Given the description of an element on the screen output the (x, y) to click on. 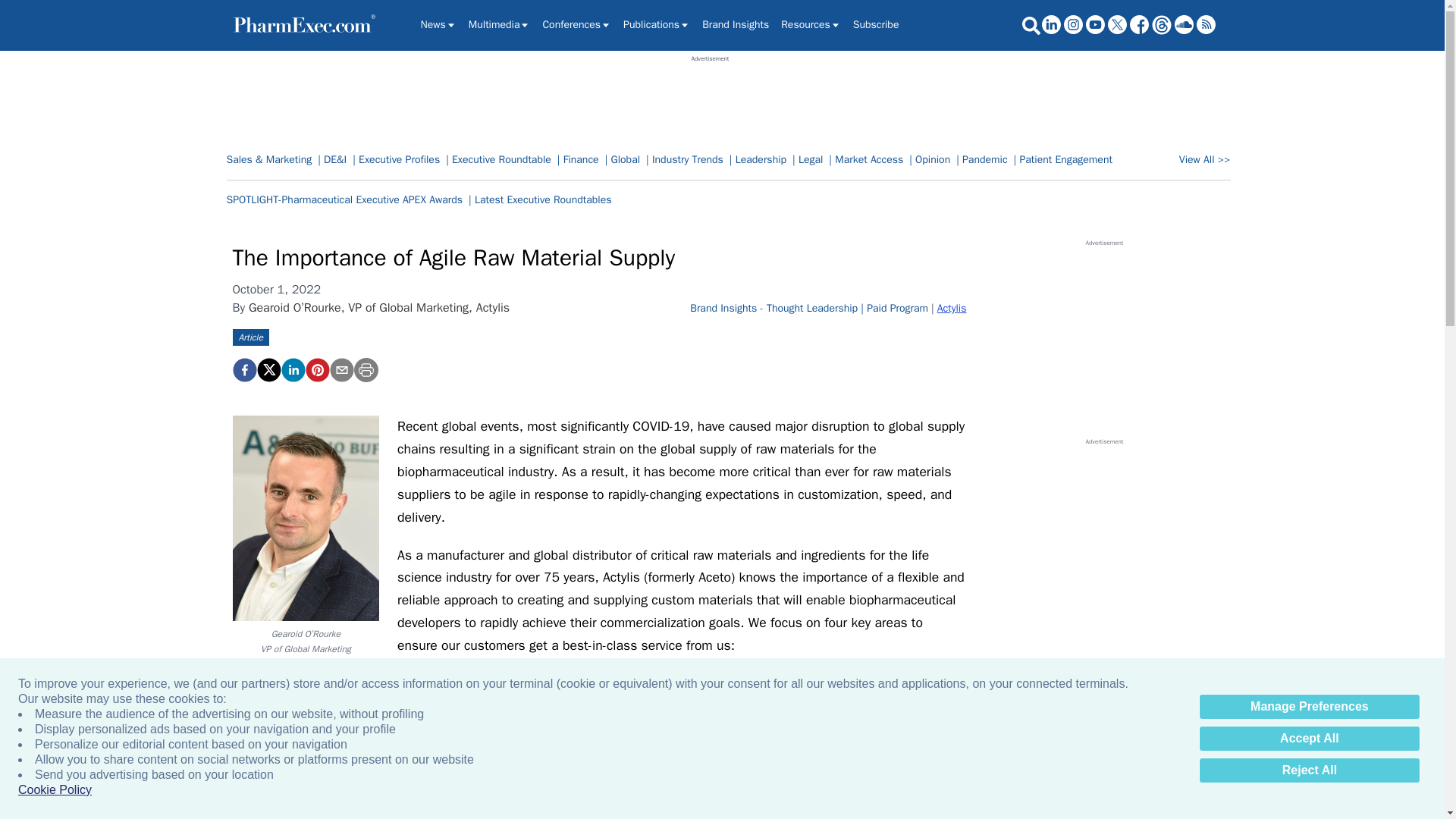
3rd party ad content (1103, 540)
Cookie Policy (54, 789)
Manage Preferences (1309, 706)
The Importance of Agile Raw Material Supply (316, 369)
The Importance of Agile Raw Material Supply (243, 369)
3rd party ad content (1103, 341)
Accept All (1309, 738)
Brand Insights (734, 23)
Subscribe (876, 23)
3rd party ad content (709, 97)
Reject All (1309, 769)
